Given the description of an element on the screen output the (x, y) to click on. 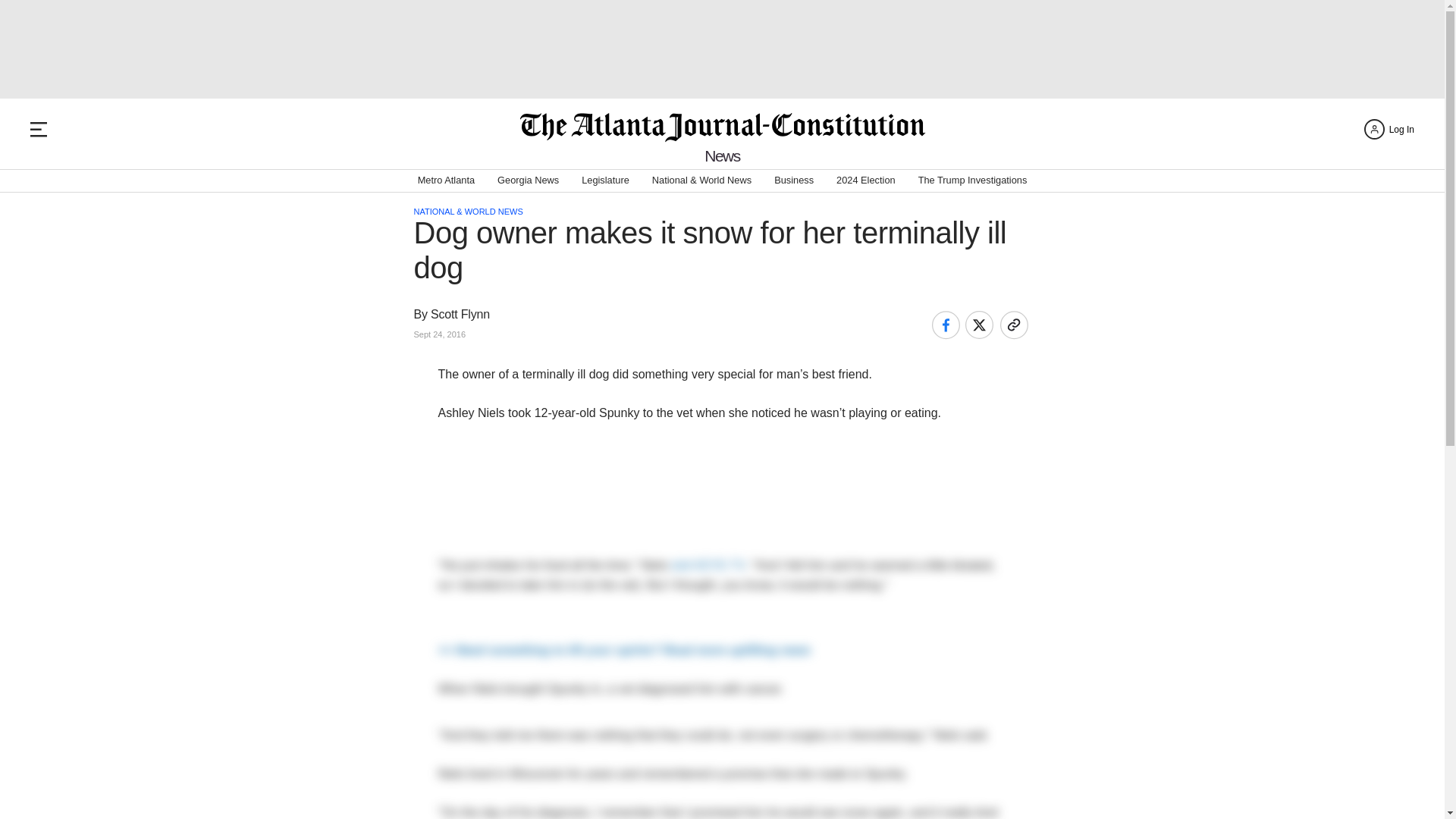
Georgia News (528, 180)
Legislature (604, 180)
News (721, 155)
The Trump Investigations (972, 180)
2024 Election (865, 180)
Metro Atlanta (445, 180)
Business (793, 180)
